Given the description of an element on the screen output the (x, y) to click on. 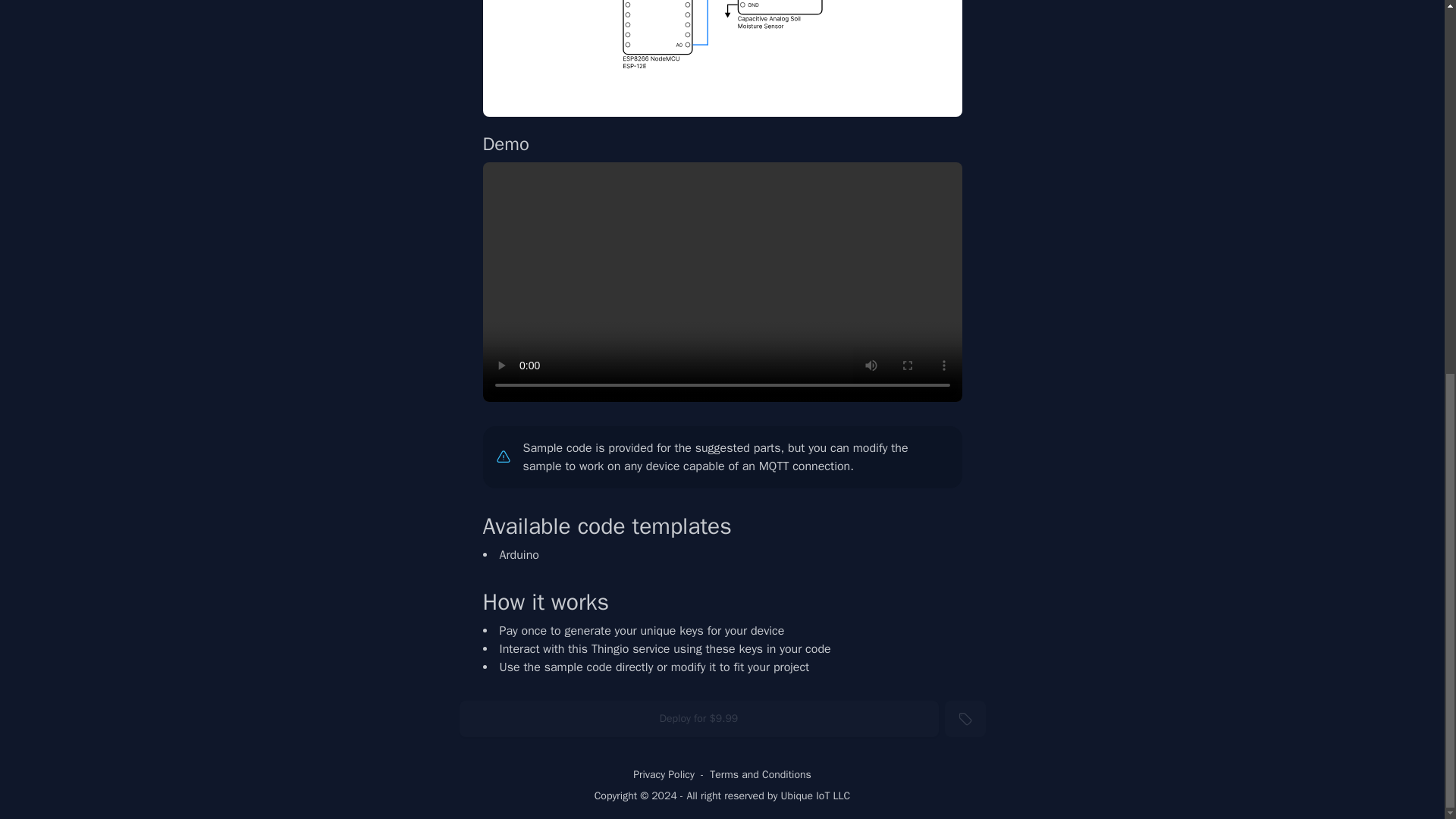
Terms and Conditions (760, 774)
Privacy Policy (663, 774)
